Given the description of an element on the screen output the (x, y) to click on. 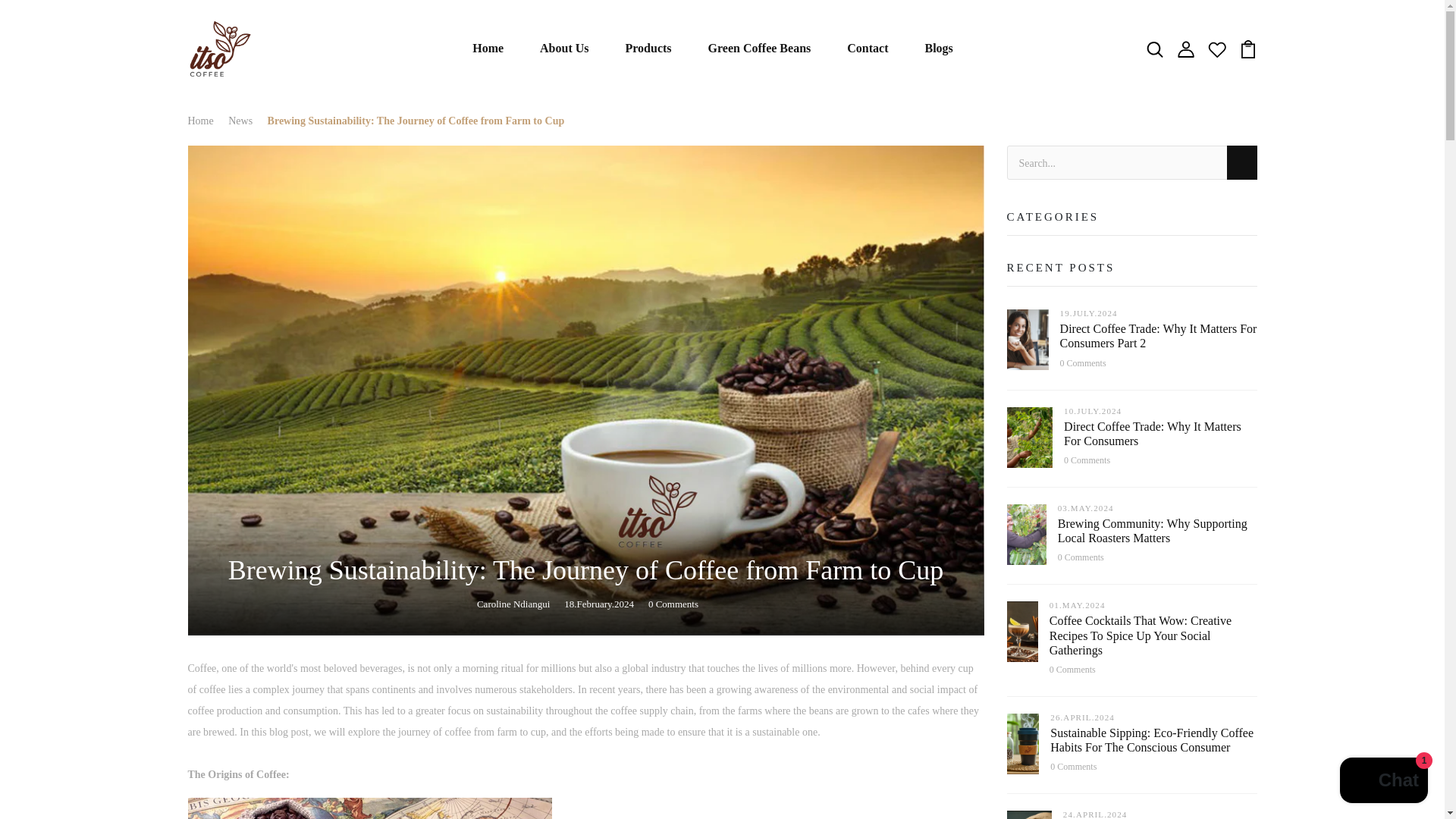
Home (487, 48)
Blogs (938, 48)
register (722, 790)
Home (487, 48)
Green Coffee Beans (758, 48)
Log In (722, 527)
About Us (564, 48)
Products (649, 48)
Blogs (938, 48)
About Us (564, 48)
Contact (867, 48)
Green Coffee Beans (758, 48)
Contact (867, 48)
Back to the frontpage (206, 120)
Products (649, 48)
